Given the description of an element on the screen output the (x, y) to click on. 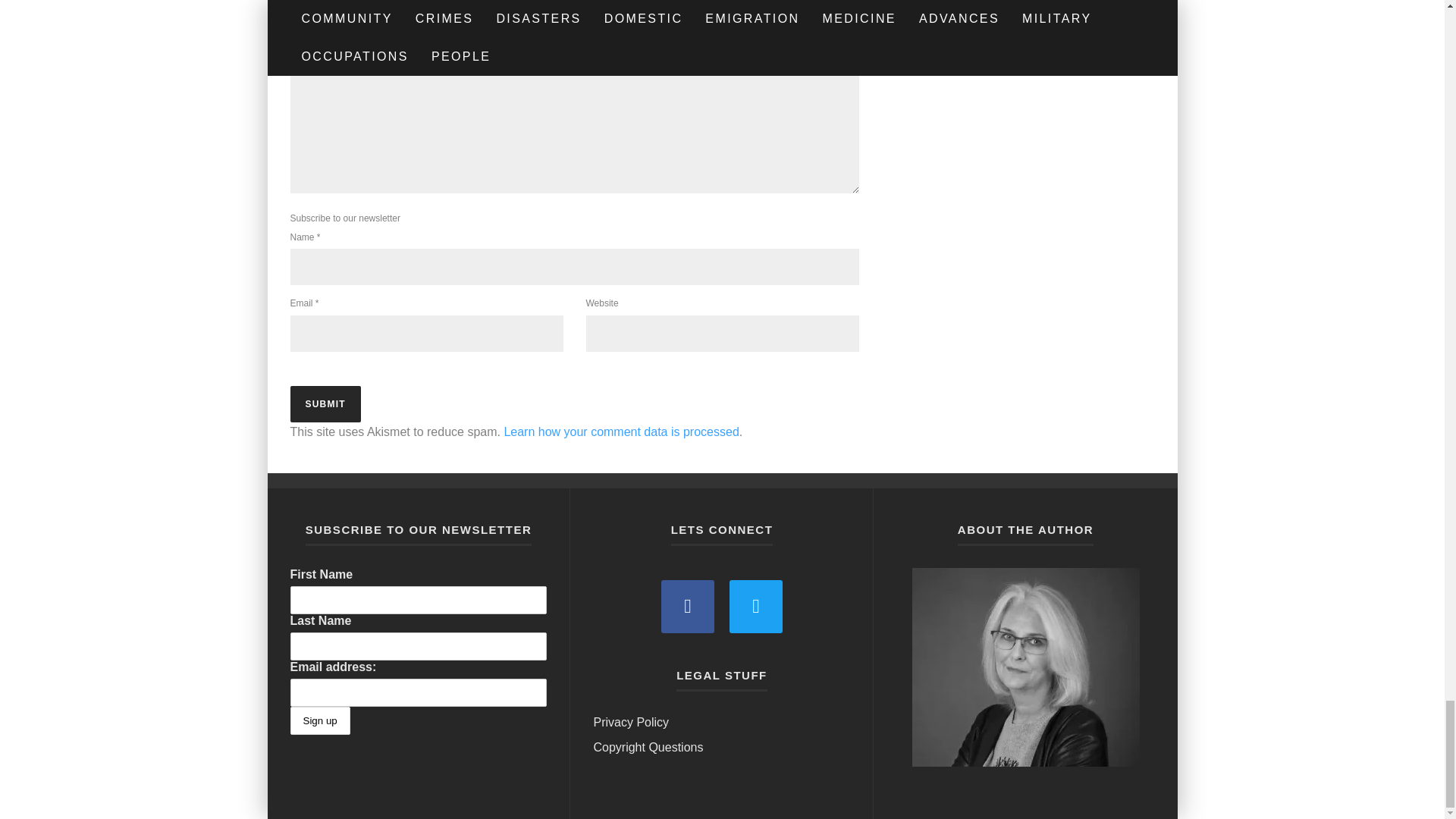
Submit (324, 403)
About the author (1024, 667)
Sign up (319, 720)
